Given the description of an element on the screen output the (x, y) to click on. 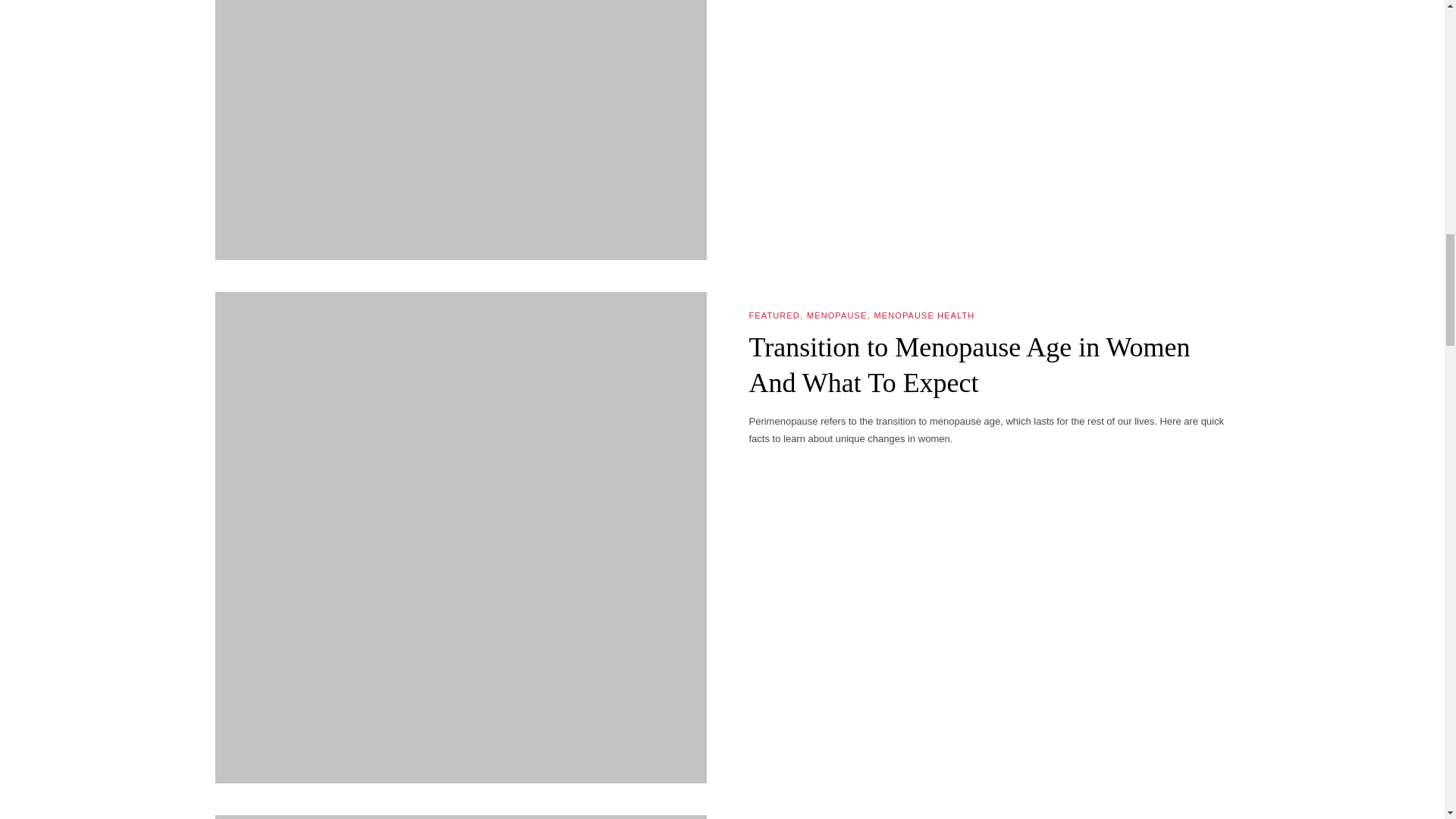
View all articles from: Featured (774, 315)
View all articles from: Menopause (836, 315)
